Given the description of an element on the screen output the (x, y) to click on. 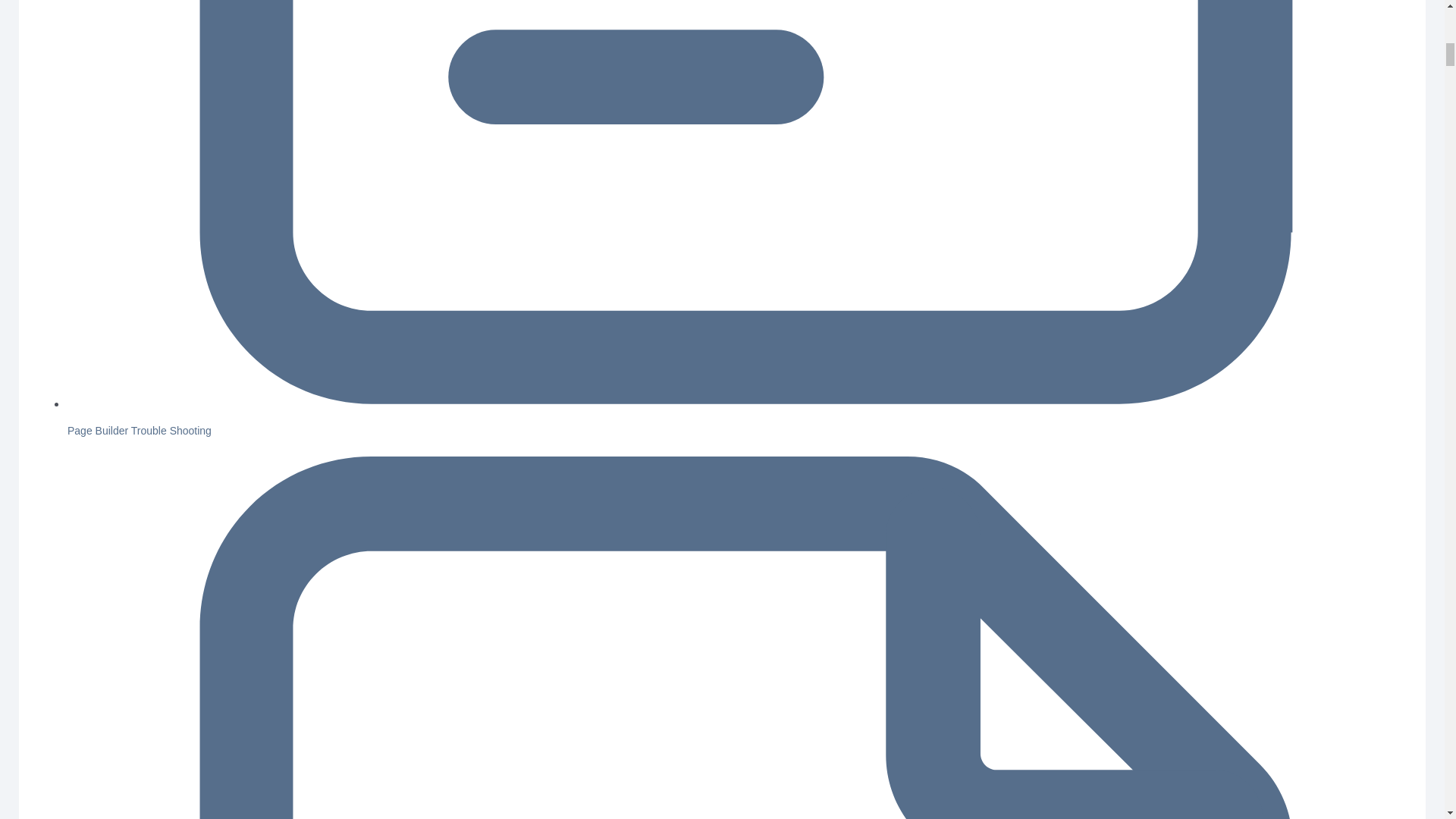
Page Builder Trouble Shooting (138, 430)
